Given the description of an element on the screen output the (x, y) to click on. 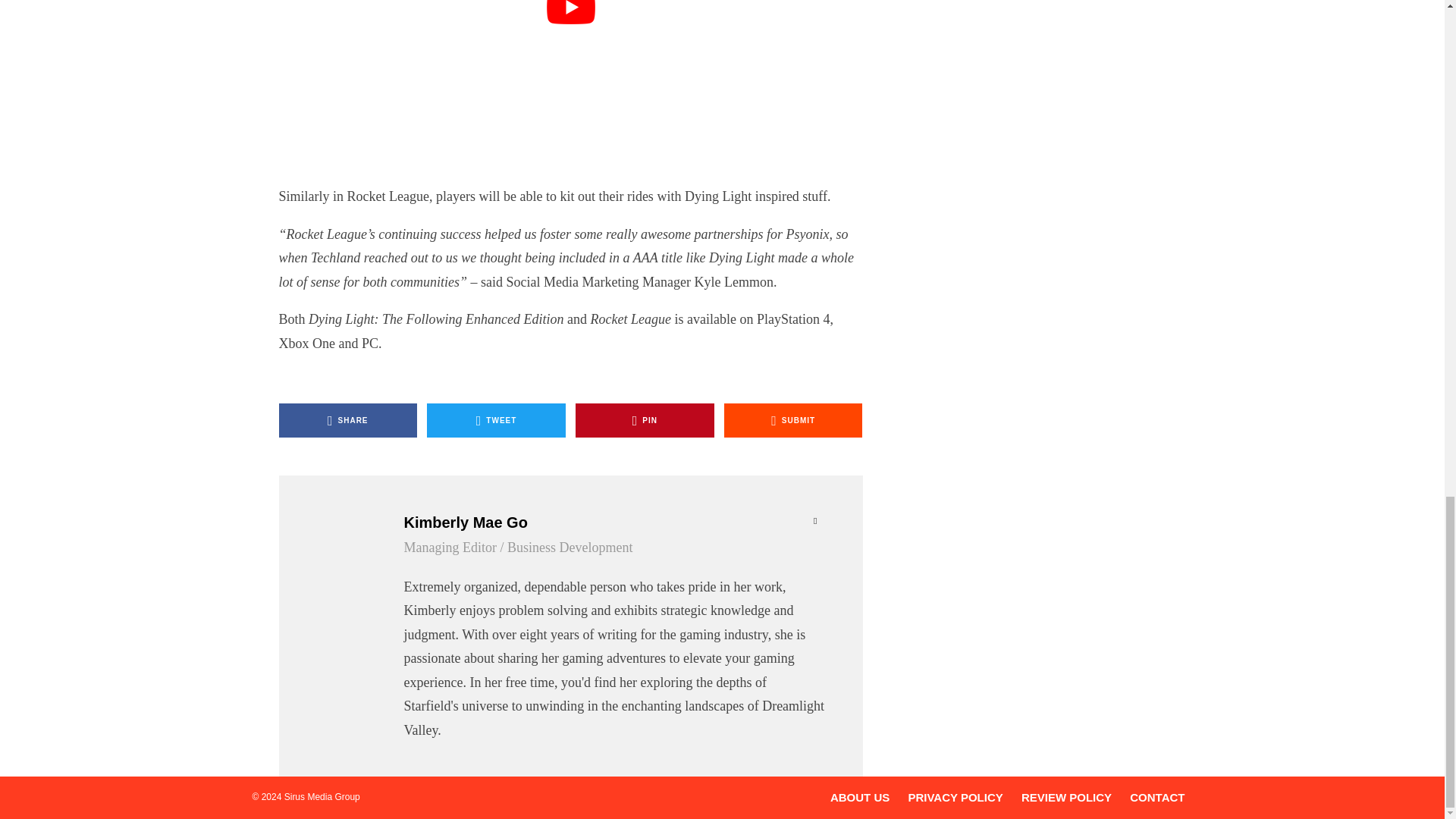
SUBMIT (793, 420)
REVIEW POLICY (1067, 797)
PRIVACY POLICY (955, 797)
CONTACT (1157, 797)
SHARE (348, 420)
PIN (644, 420)
TWEET (496, 420)
Kimberly Mae Go (613, 522)
ABOUT US (859, 797)
